Given the description of an element on the screen output the (x, y) to click on. 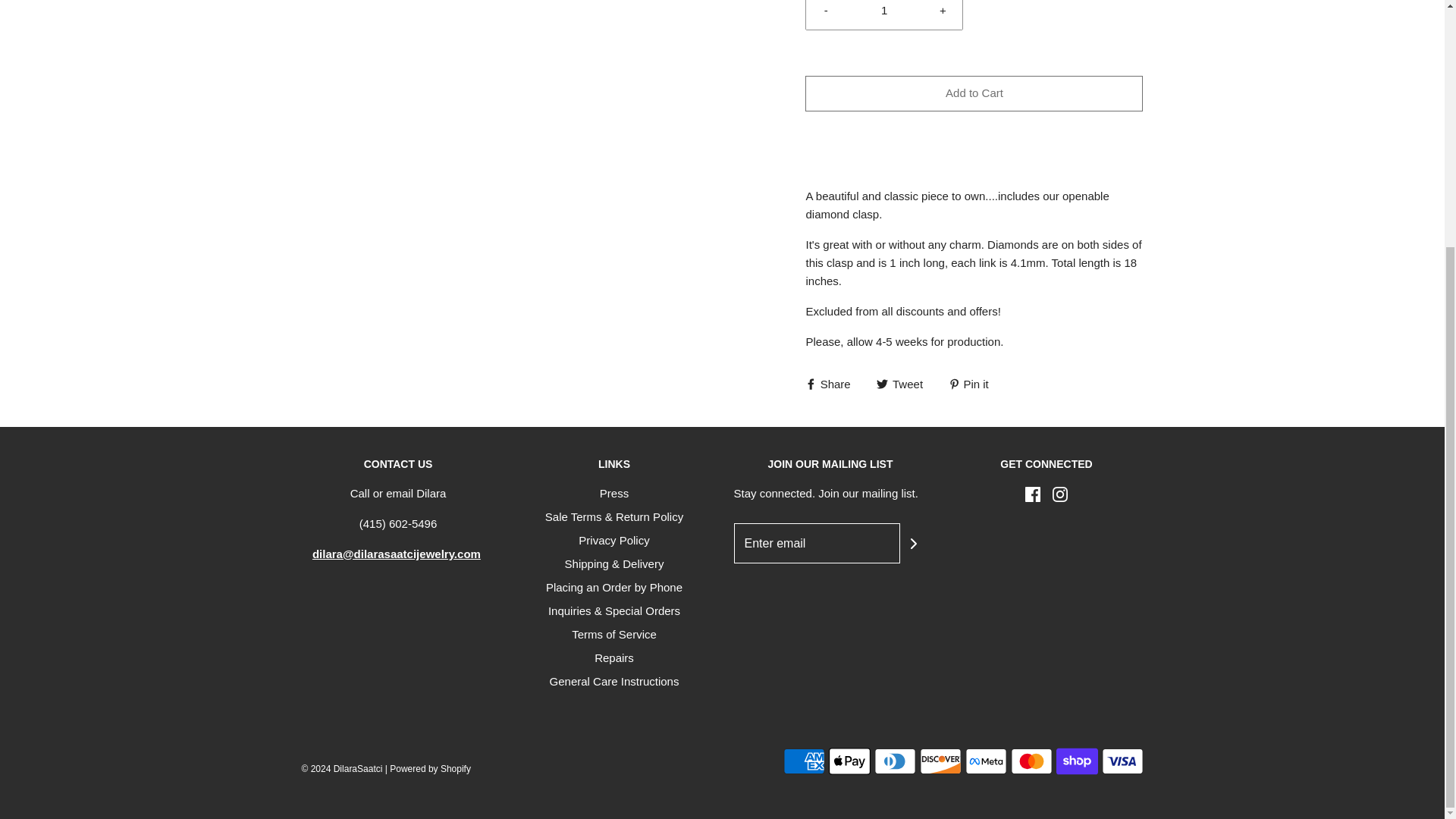
Apple Pay (848, 761)
Visa (1121, 761)
Shop Pay (1076, 761)
Instagram icon (1059, 494)
American Express (803, 761)
Meta Pay (984, 761)
Discover (939, 761)
Diners Club (894, 761)
1 (884, 14)
Facebook icon (1033, 494)
